Given the description of an element on the screen output the (x, y) to click on. 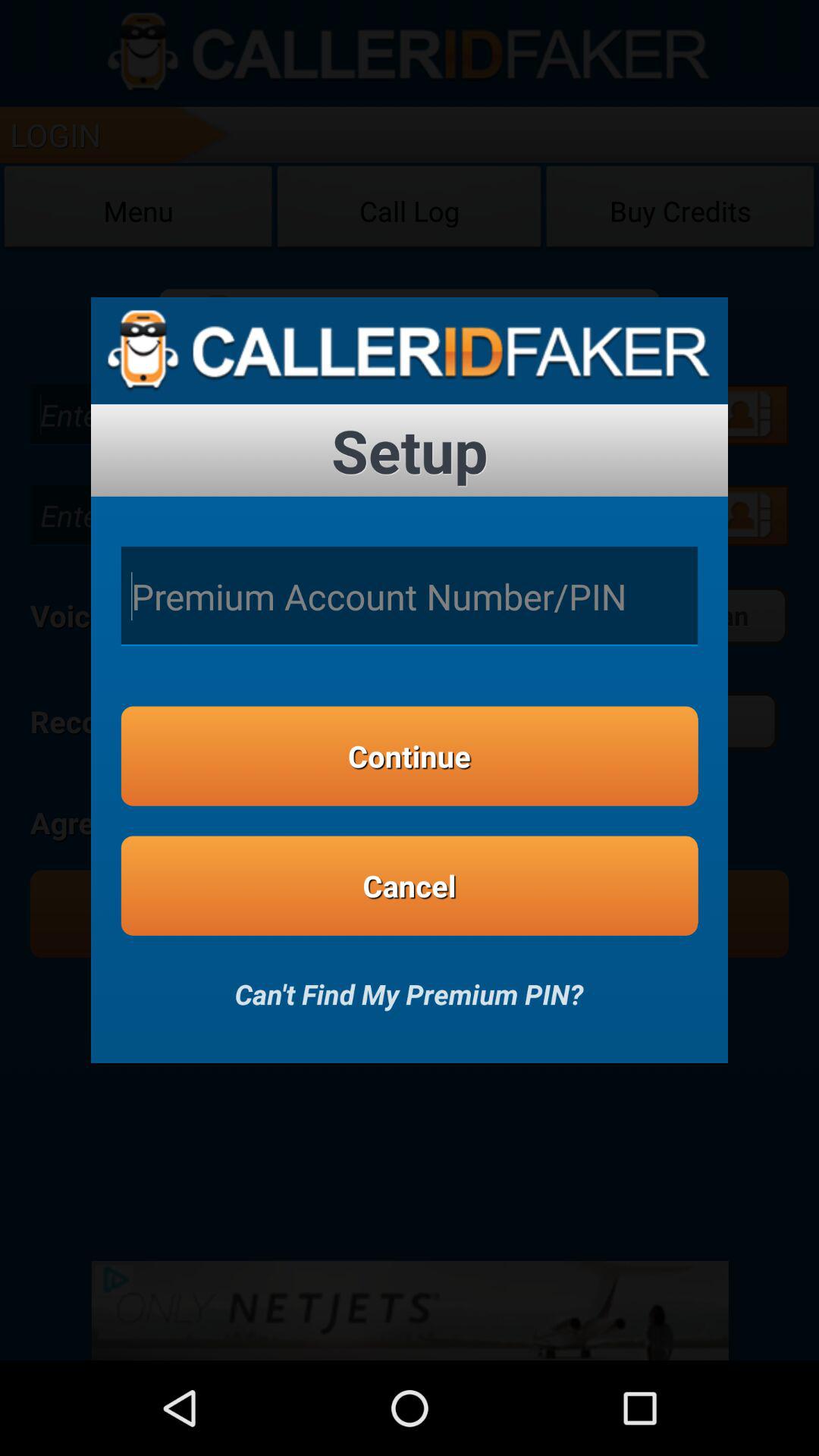
swipe until cancel button (409, 885)
